Given the description of an element on the screen output the (x, y) to click on. 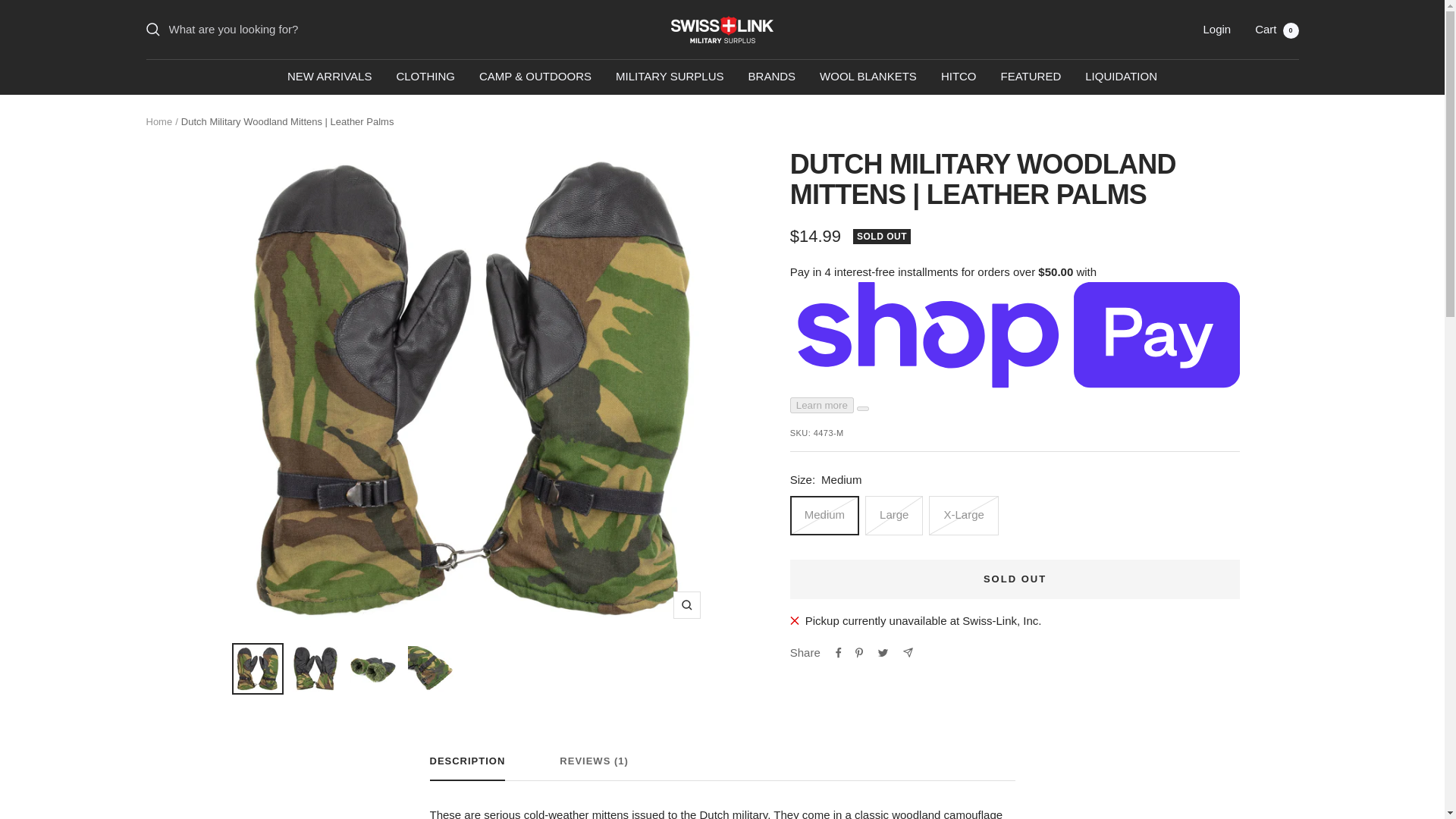
Swiss Link Military Surplus (722, 29)
FEATURED (1031, 76)
LIQUIDATION (1120, 76)
WOOL BLANKETS (868, 76)
Home (158, 121)
NEW ARRIVALS (328, 76)
Zoom (686, 605)
